Given the description of an element on the screen output the (x, y) to click on. 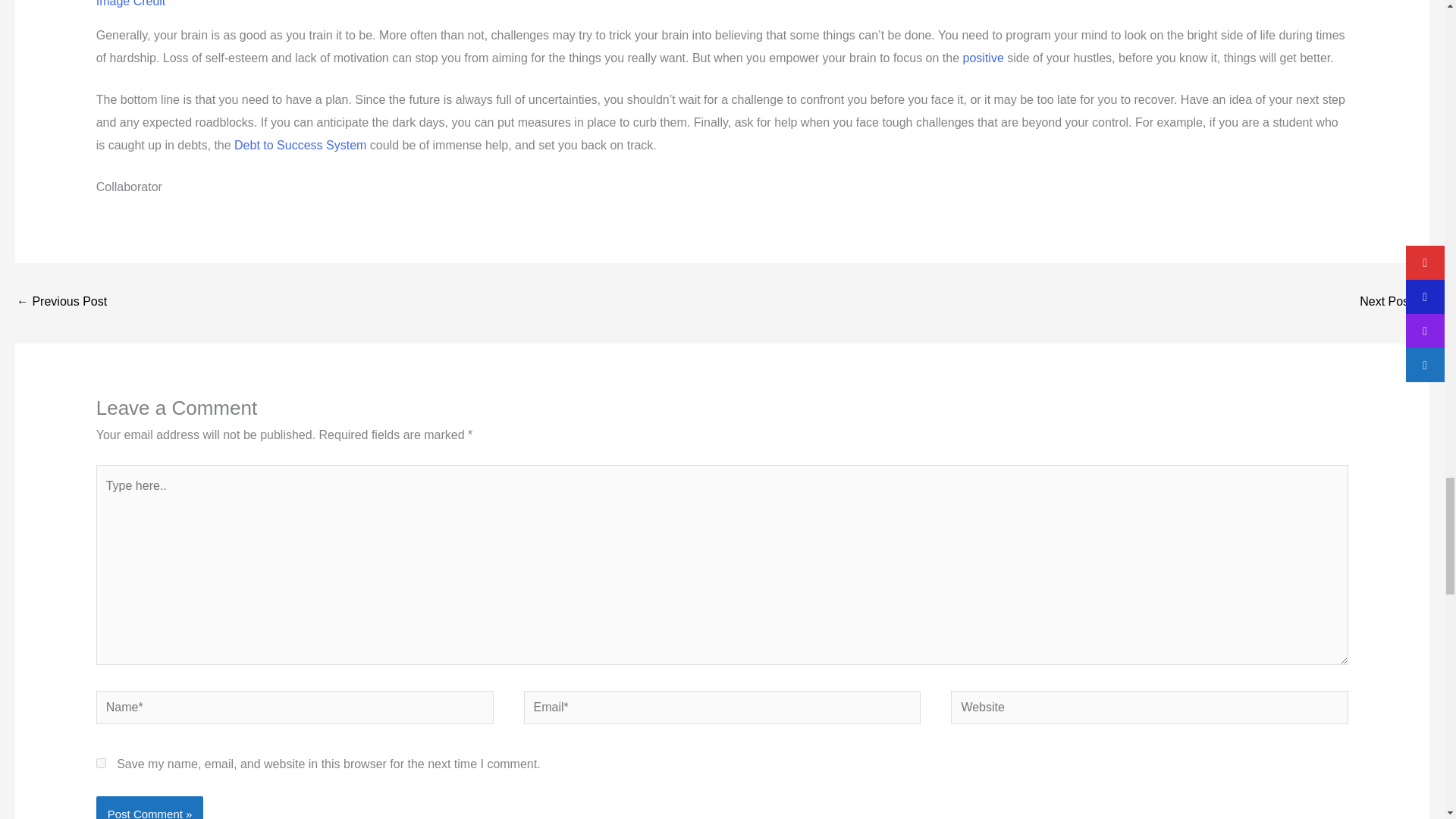
Image Credit (130, 3)
7 Tactics For Overcoming Challenges (61, 302)
11 Powerful Actions To Arrive At Where You Want To Be (1393, 302)
yes (101, 763)
Debt to Success System (300, 144)
positive (983, 57)
